Given the description of an element on the screen output the (x, y) to click on. 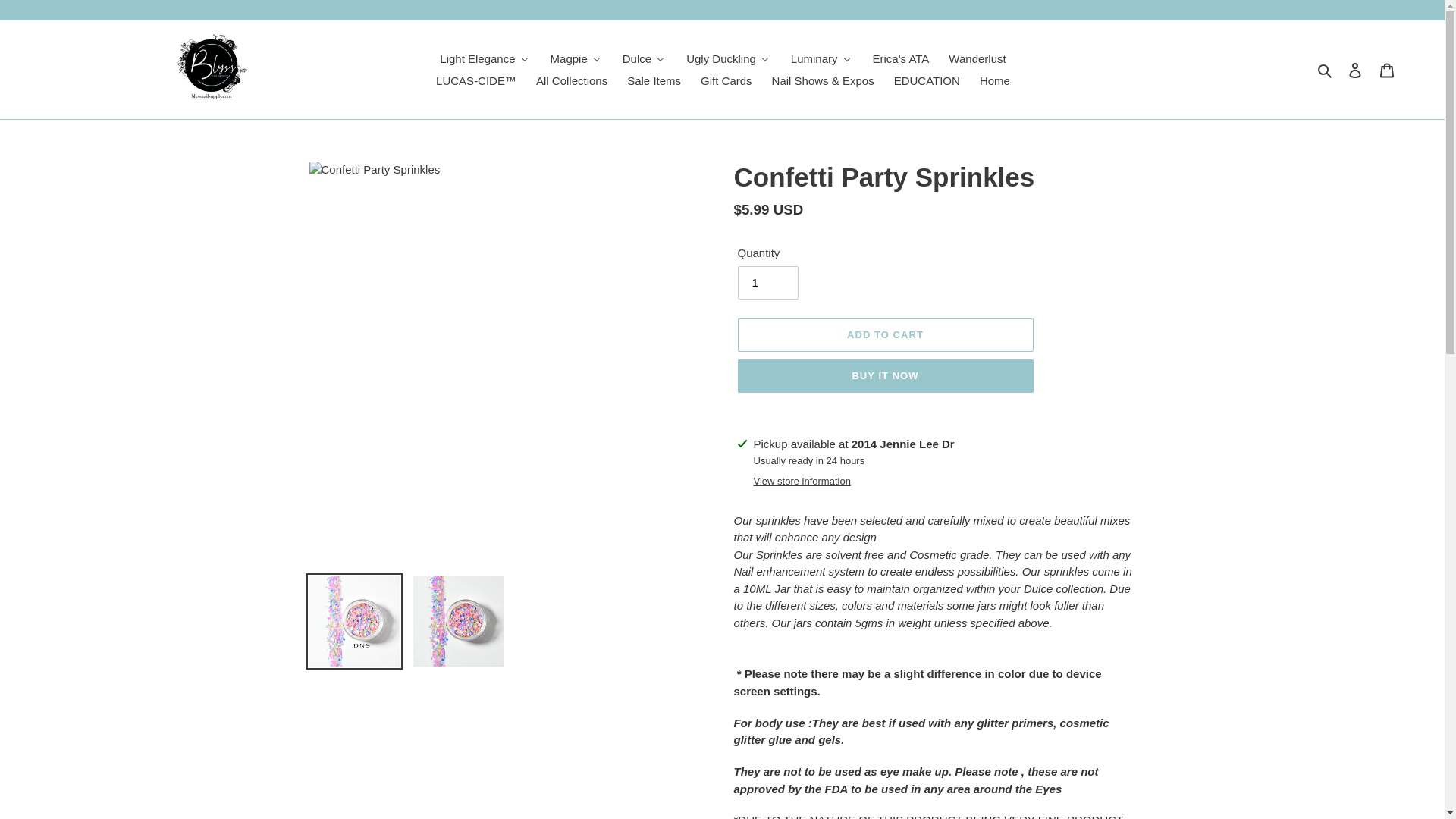
Dulce (643, 58)
1 (766, 282)
Light Elegance (483, 58)
Magpie (575, 58)
